Given the description of an element on the screen output the (x, y) to click on. 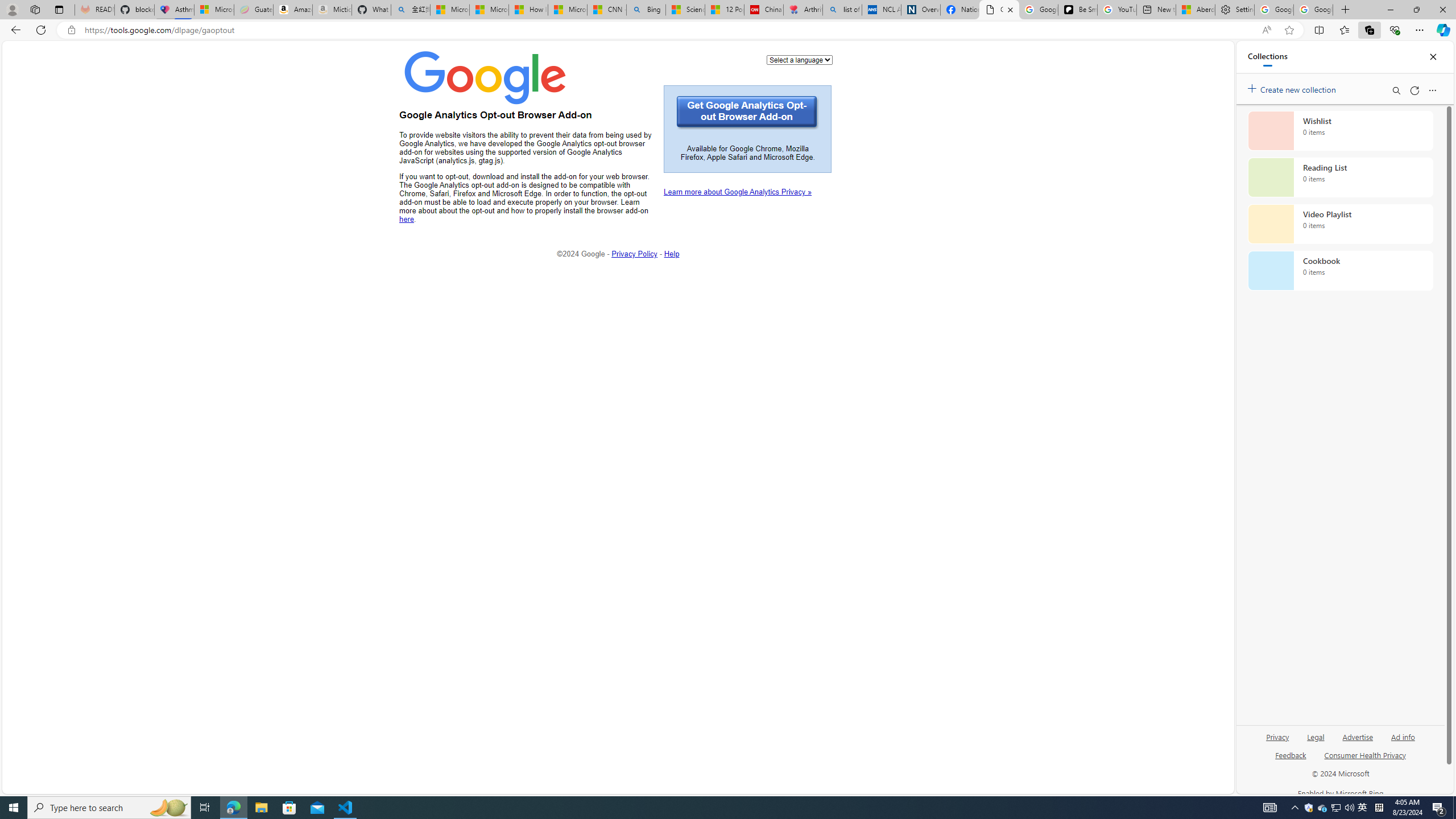
Legal (1315, 741)
Video Playlist collection, 0 items (1339, 223)
Wishlist collection, 0 items (1339, 130)
Microsoft-Report a Concern to Bing (213, 9)
Reading List collection, 0 items (1339, 177)
Arthritis: Ask Health Professionals (802, 9)
Consumer Health Privacy (1364, 759)
